Given the description of an element on the screen output the (x, y) to click on. 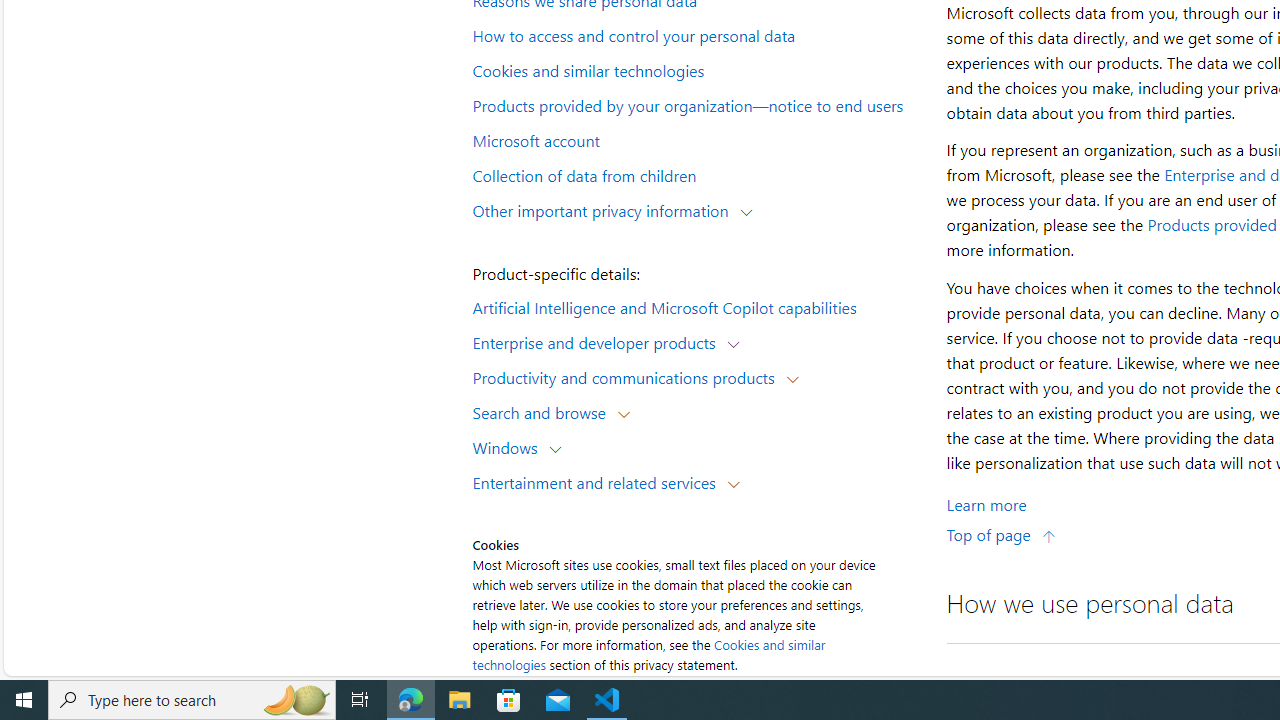
Windows (509, 446)
Collection of data from children (696, 174)
Microsoft account (696, 139)
Entertainment and related services (598, 481)
Search and browse (543, 412)
How to access and control your personal data (696, 35)
Top of page (1001, 534)
Learn More about Personal data we collect (985, 504)
Enterprise and developer products (598, 341)
Other important privacy information (605, 209)
Artificial Intelligence and Microsoft Copilot capabilities (696, 306)
Cookies and similar technologies (696, 69)
Productivity and communications products (628, 376)
